Given the description of an element on the screen output the (x, y) to click on. 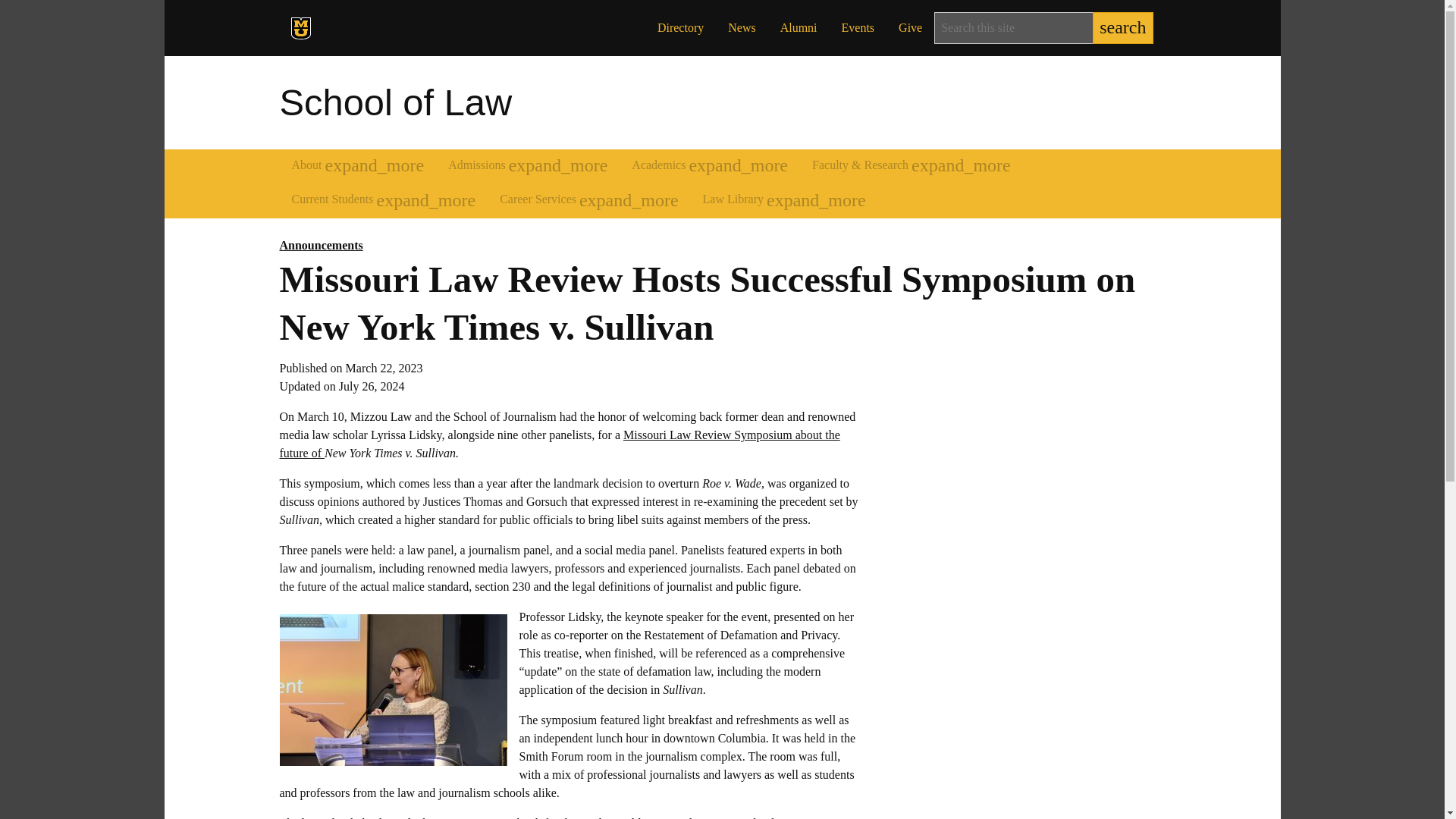
Directory (680, 28)
School of Law (395, 101)
News (741, 28)
Alumni (798, 28)
Events (857, 28)
School of Law (395, 101)
Give (910, 28)
MU Logo (301, 27)
search (1123, 28)
University of Missouri (382, 30)
